Given the description of an element on the screen output the (x, y) to click on. 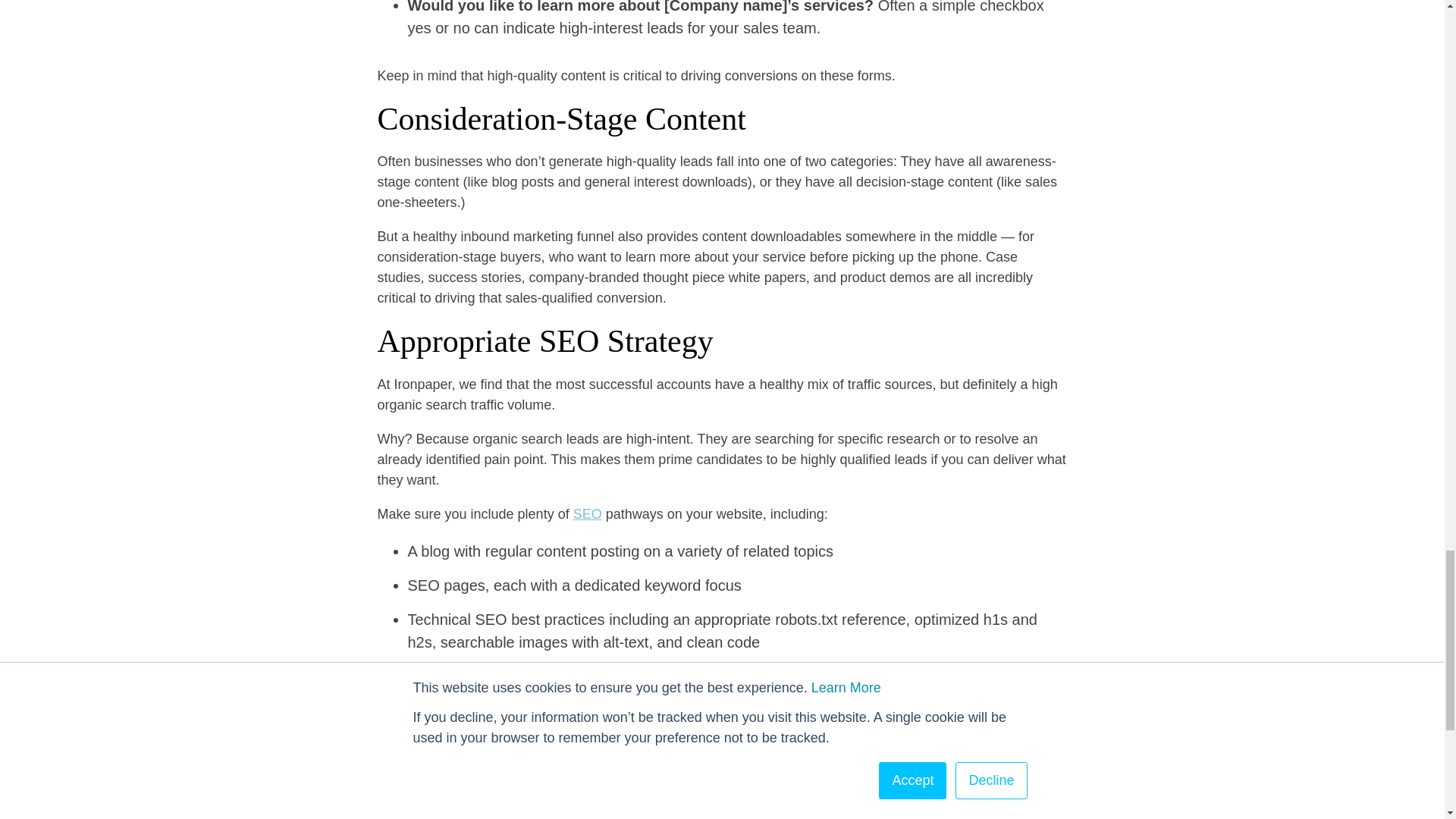
SEO (587, 513)
